Given the description of an element on the screen output the (x, y) to click on. 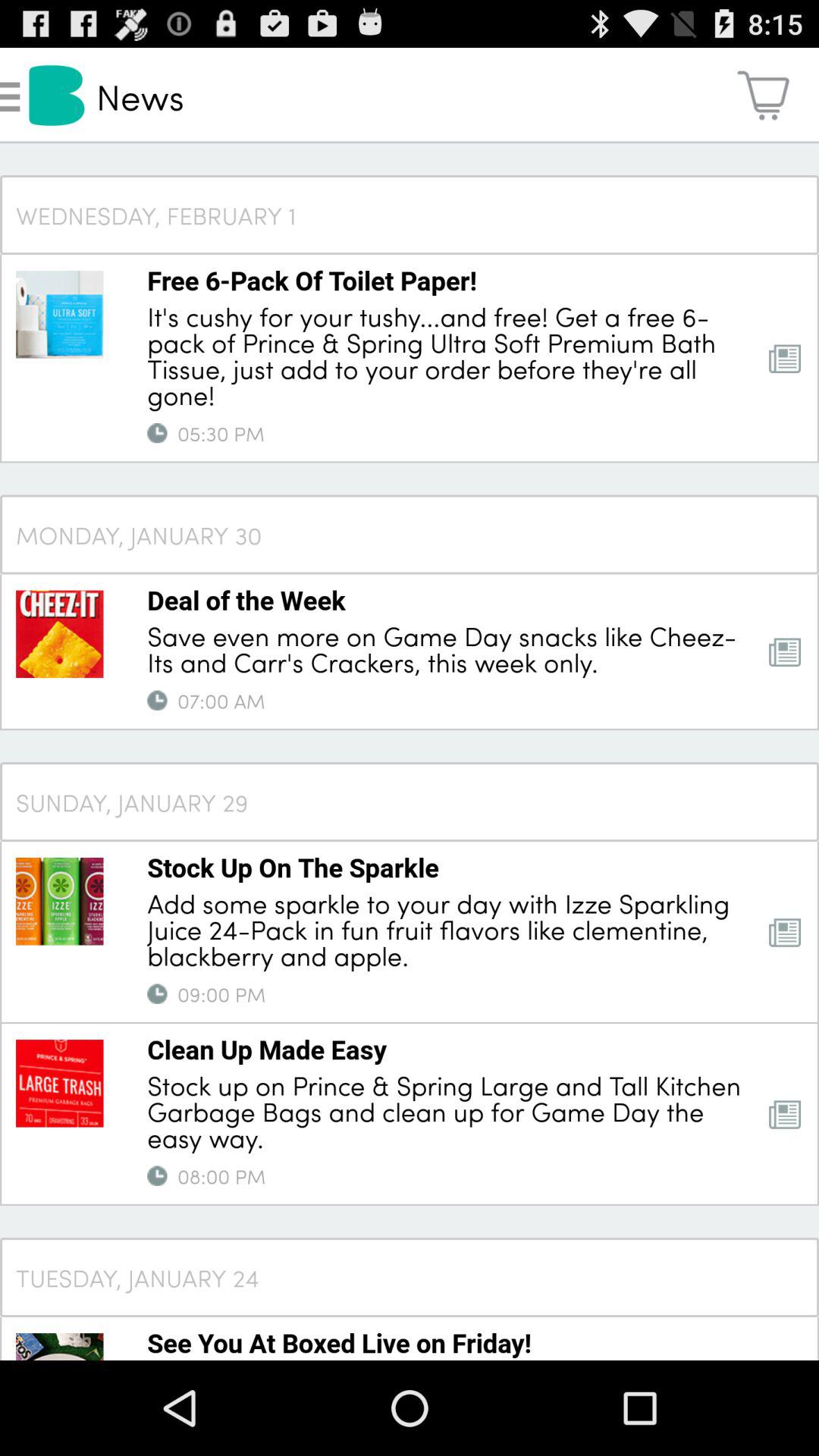
choose the icon below it s cushy icon (157, 433)
